Given the description of an element on the screen output the (x, y) to click on. 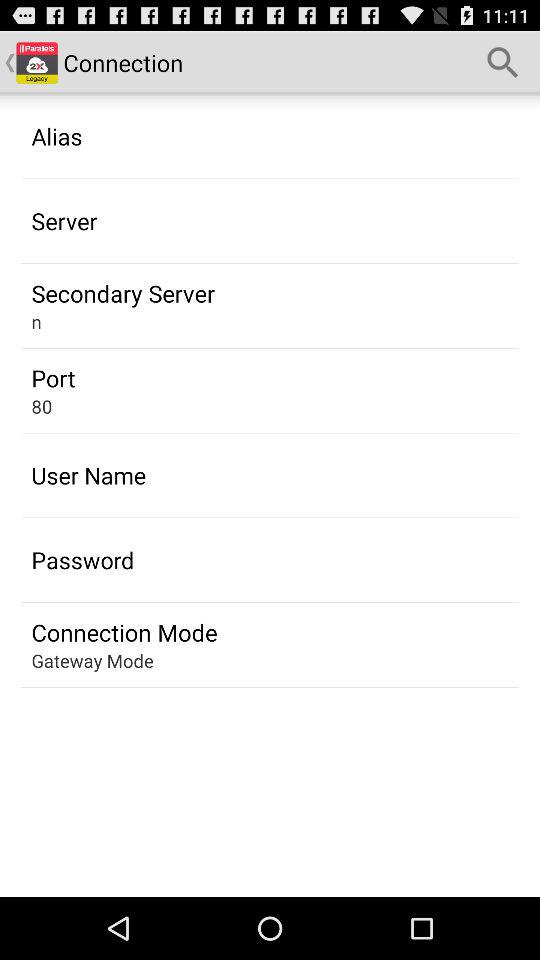
launch app above the connection mode icon (82, 560)
